Given the description of an element on the screen output the (x, y) to click on. 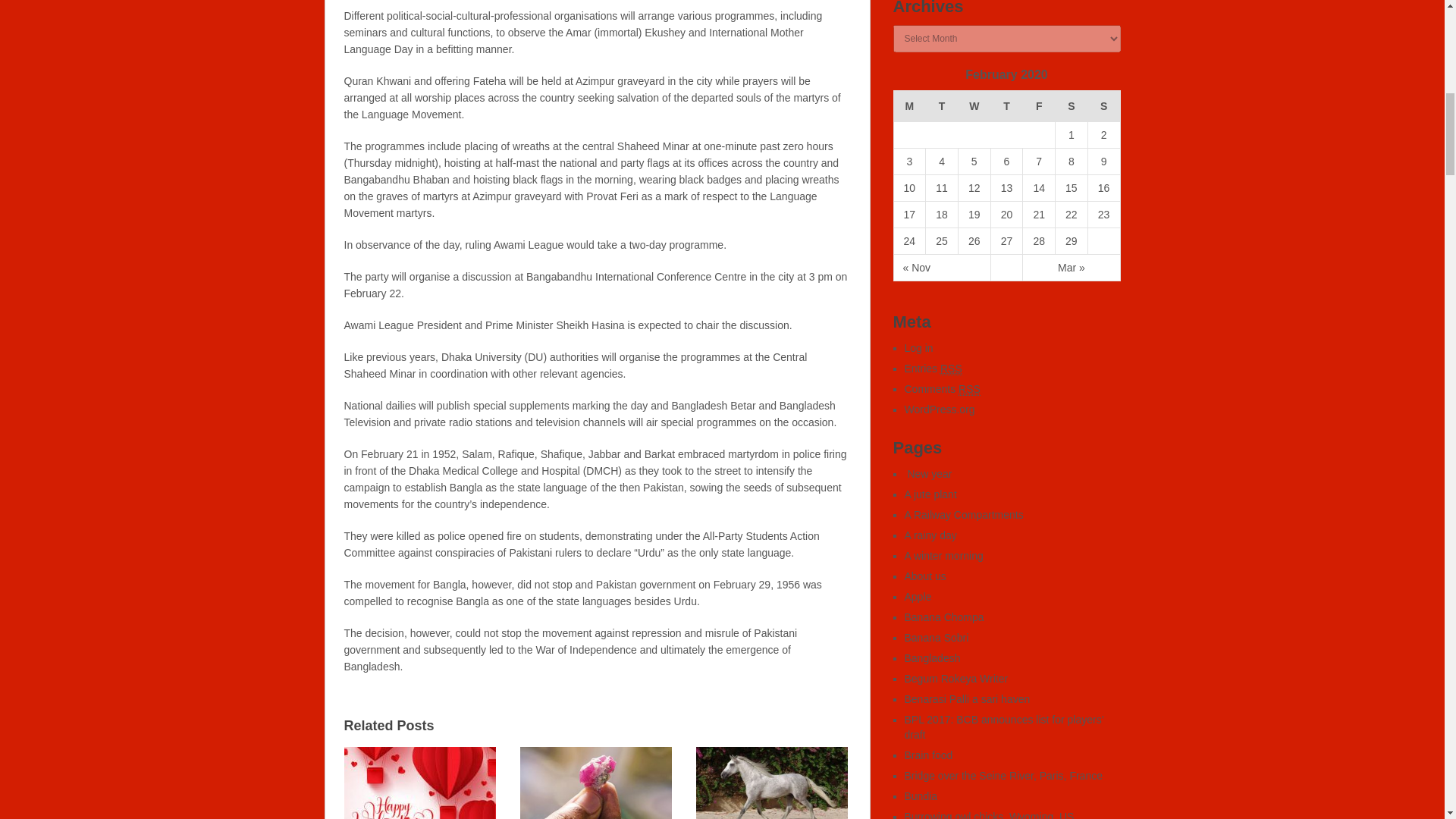
Monday (909, 106)
Tuesday (942, 106)
Wednesday (974, 106)
Thursday (1006, 106)
